Given the description of an element on the screen output the (x, y) to click on. 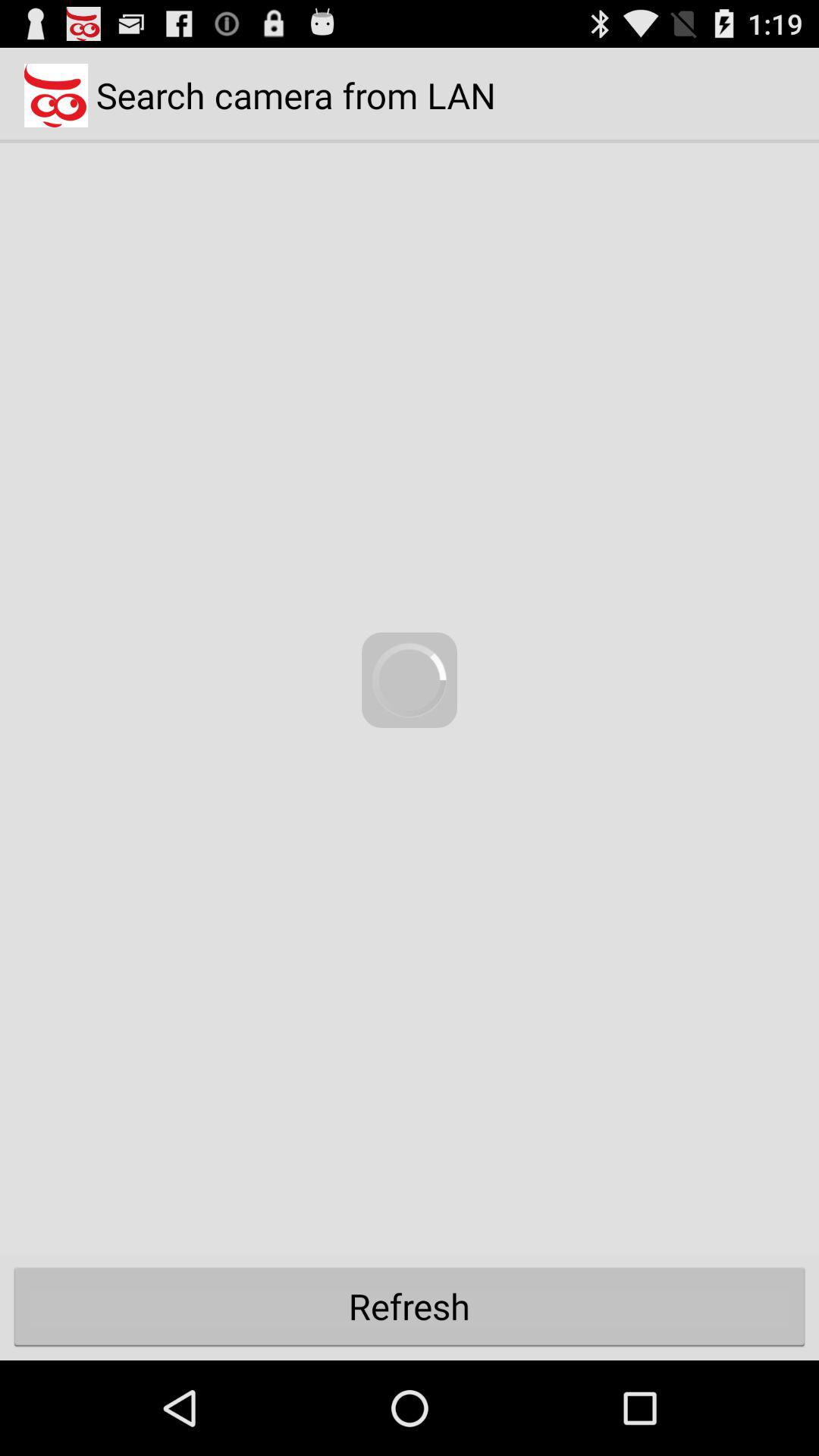
swipe to the refresh button (409, 1306)
